Given the description of an element on the screen output the (x, y) to click on. 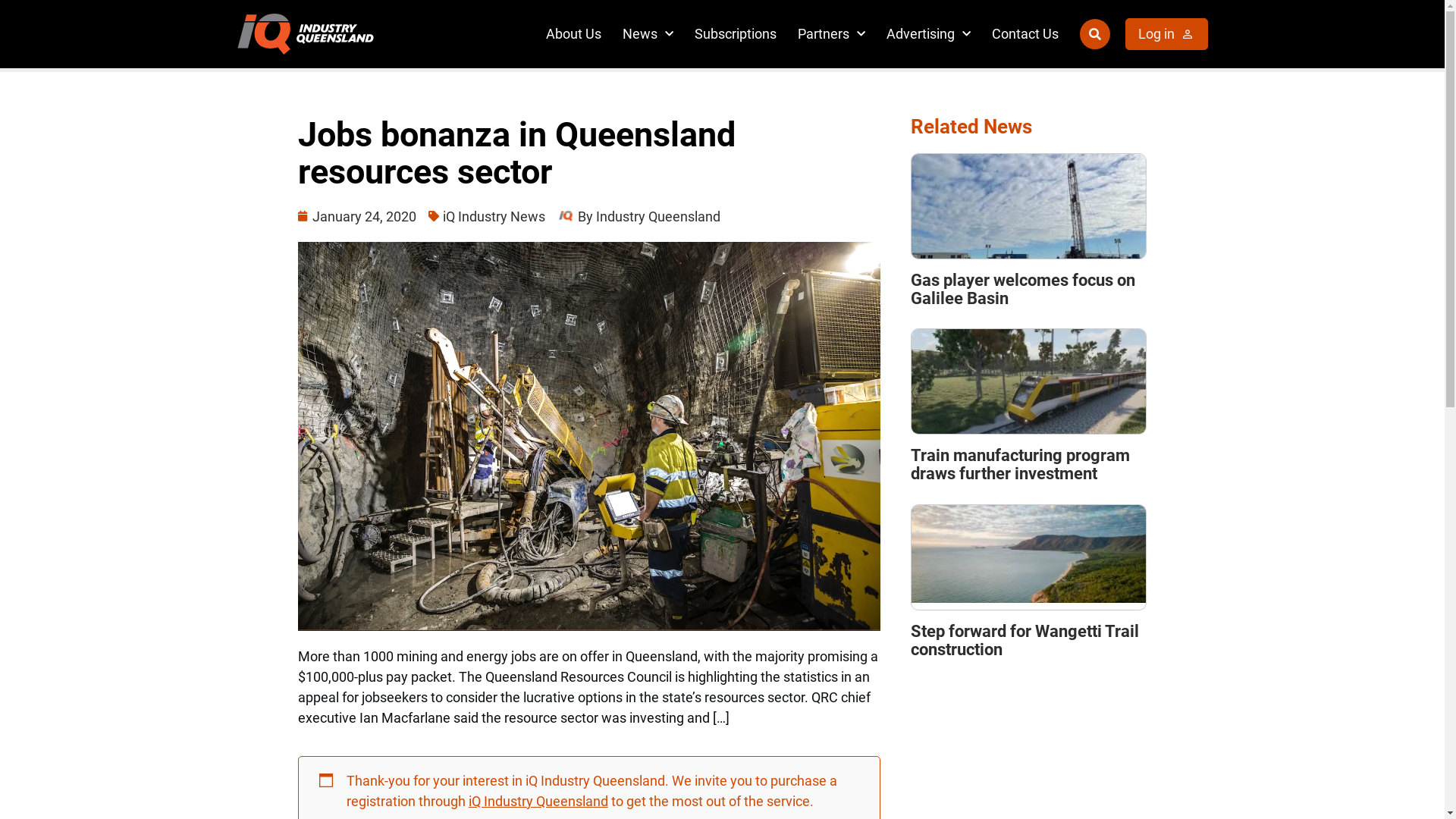
Gas player welcomes focus on Galilee Basin Element type: text (1022, 288)
Log in Element type: text (1166, 33)
Step forward for Wangetti Trail construction Element type: text (1024, 639)
Contact Us Element type: text (1024, 33)
iQ Industry Queensland Element type: text (538, 801)
iQ Industry News Element type: text (493, 216)
Train manufacturing program draws further investment Element type: text (1019, 464)
About Us Element type: text (573, 33)
Subscriptions Element type: text (735, 33)
Advertising Element type: text (928, 33)
News Element type: text (647, 33)
Partners Element type: text (831, 33)
